Given the description of an element on the screen output the (x, y) to click on. 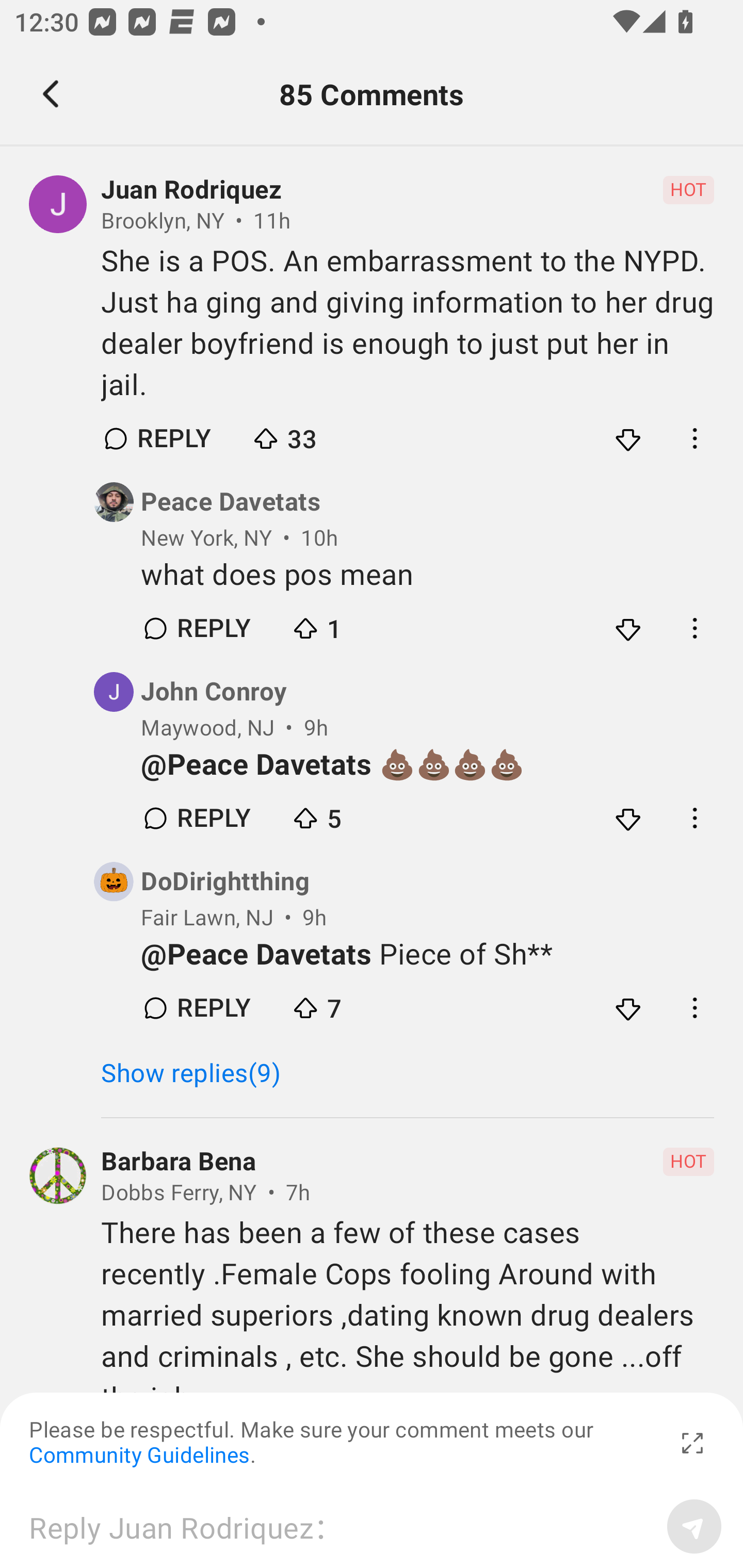
Reply Juan Rodriquez： (340, 1526)
